Given the description of an element on the screen output the (x, y) to click on. 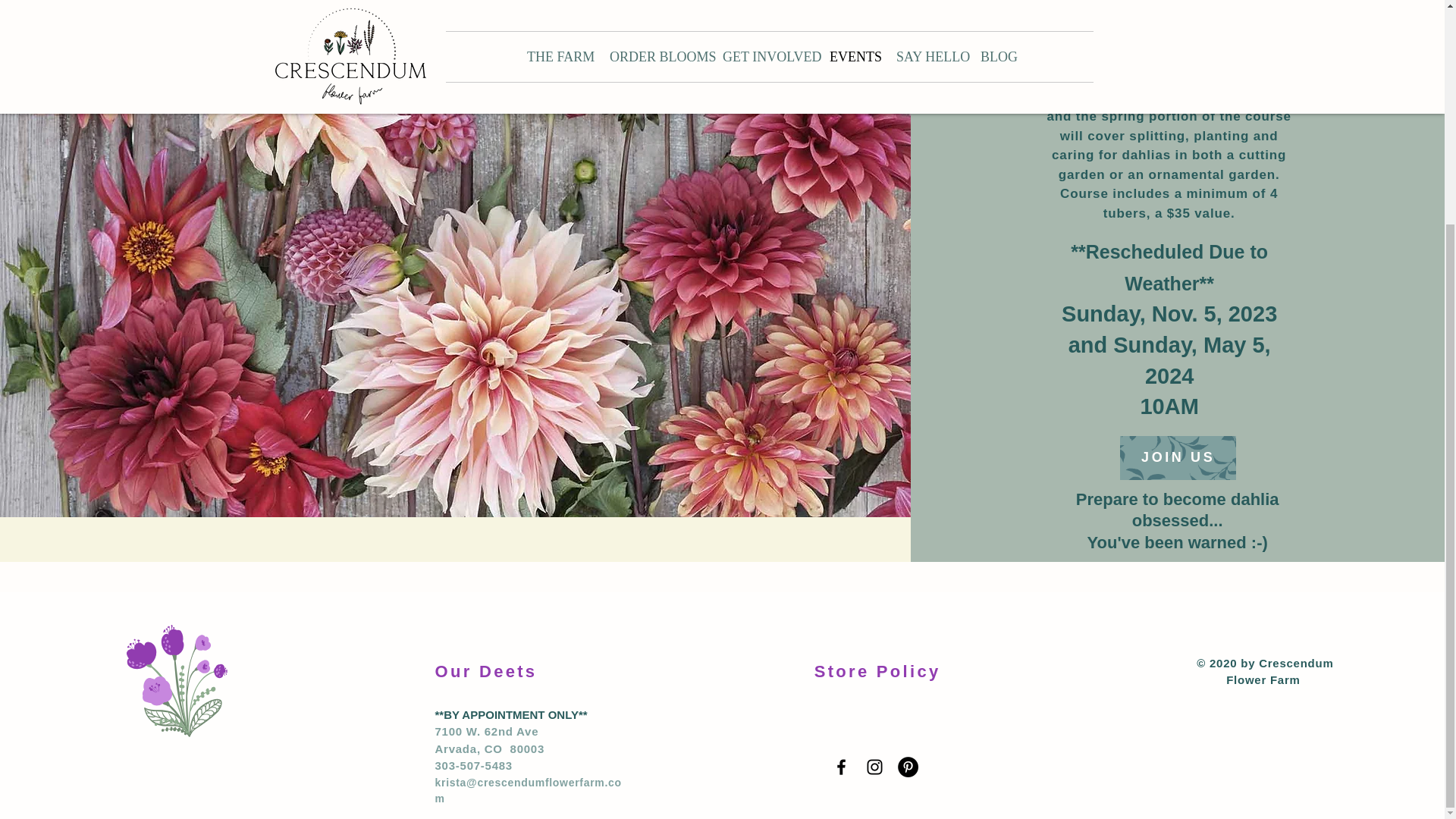
JOIN US (1177, 457)
